Given the description of an element on the screen output the (x, y) to click on. 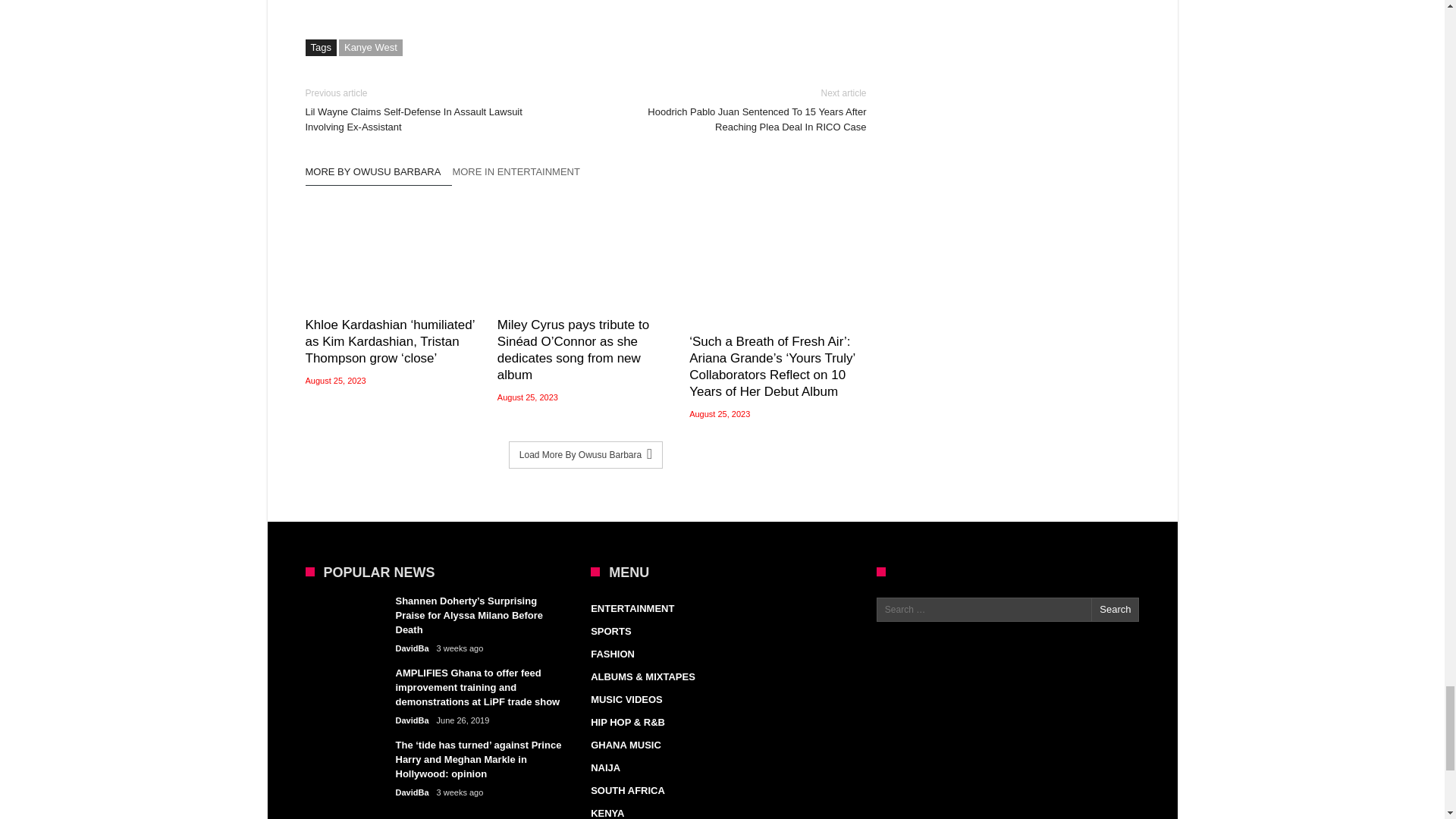
Posts by DavidBa (412, 792)
Posts by DavidBa (412, 720)
Search (1114, 609)
Posts by DavidBa (412, 648)
Search (1114, 609)
